Given the description of an element on the screen output the (x, y) to click on. 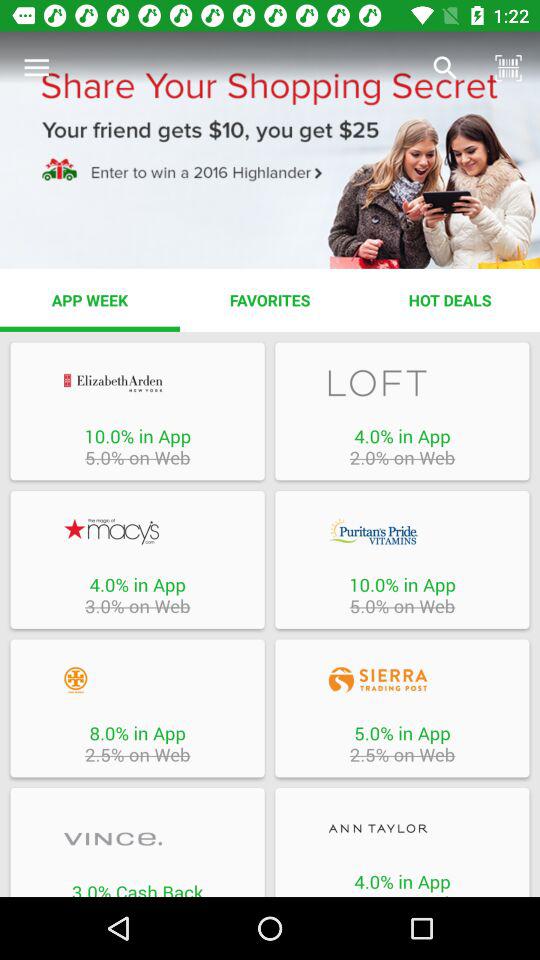
select coupon (137, 838)
